Given the description of an element on the screen output the (x, y) to click on. 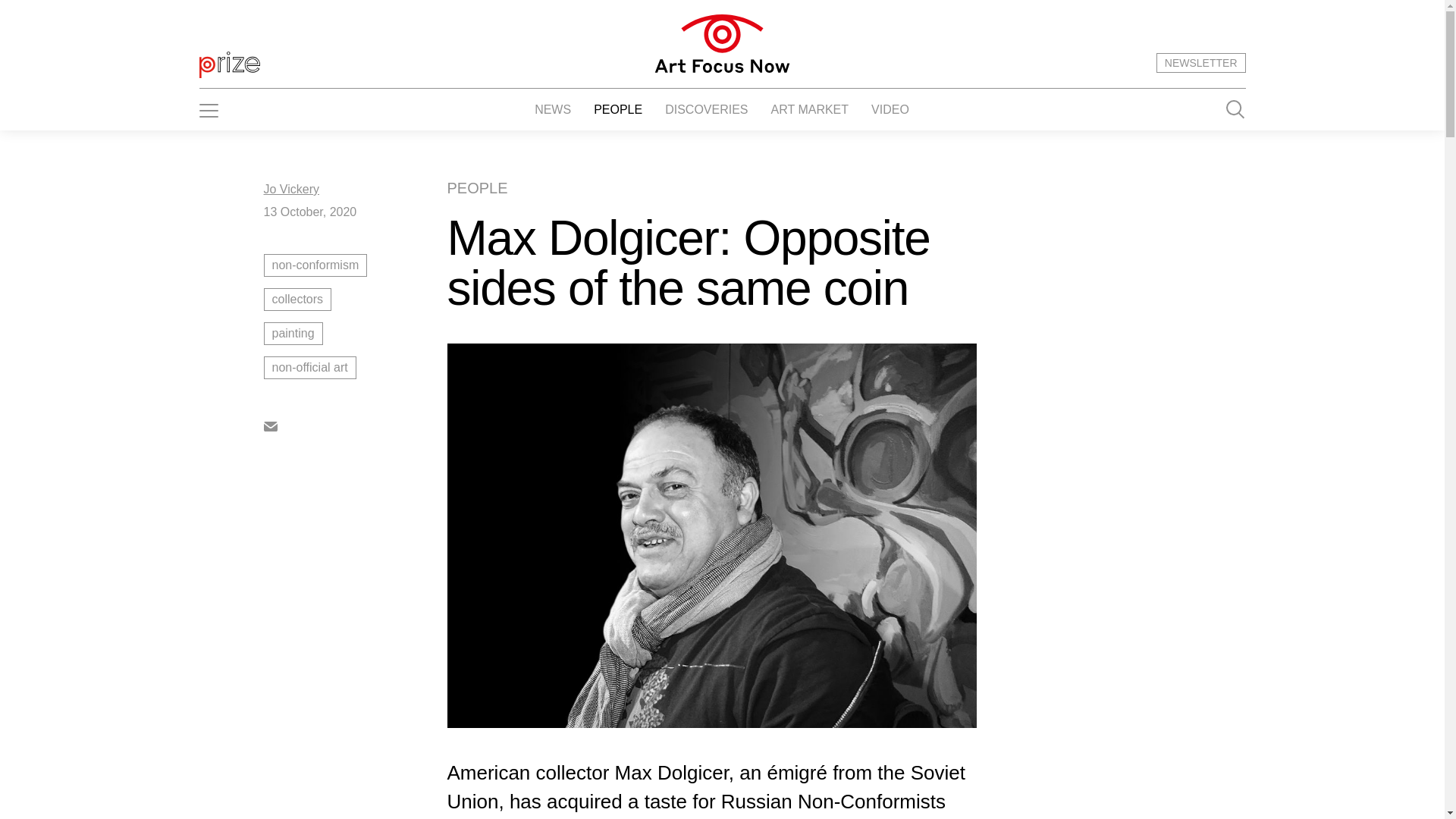
Email (270, 425)
DISCOVERIES (706, 109)
non-conformism (354, 264)
NEWS (552, 109)
non-official art (354, 367)
PEOPLE (477, 188)
collectors (354, 299)
Jo Vickery (291, 188)
painting (354, 333)
VIDEO (889, 109)
ART MARKET (809, 109)
PEOPLE (618, 109)
NEWSLETTER (1201, 62)
